Given the description of an element on the screen output the (x, y) to click on. 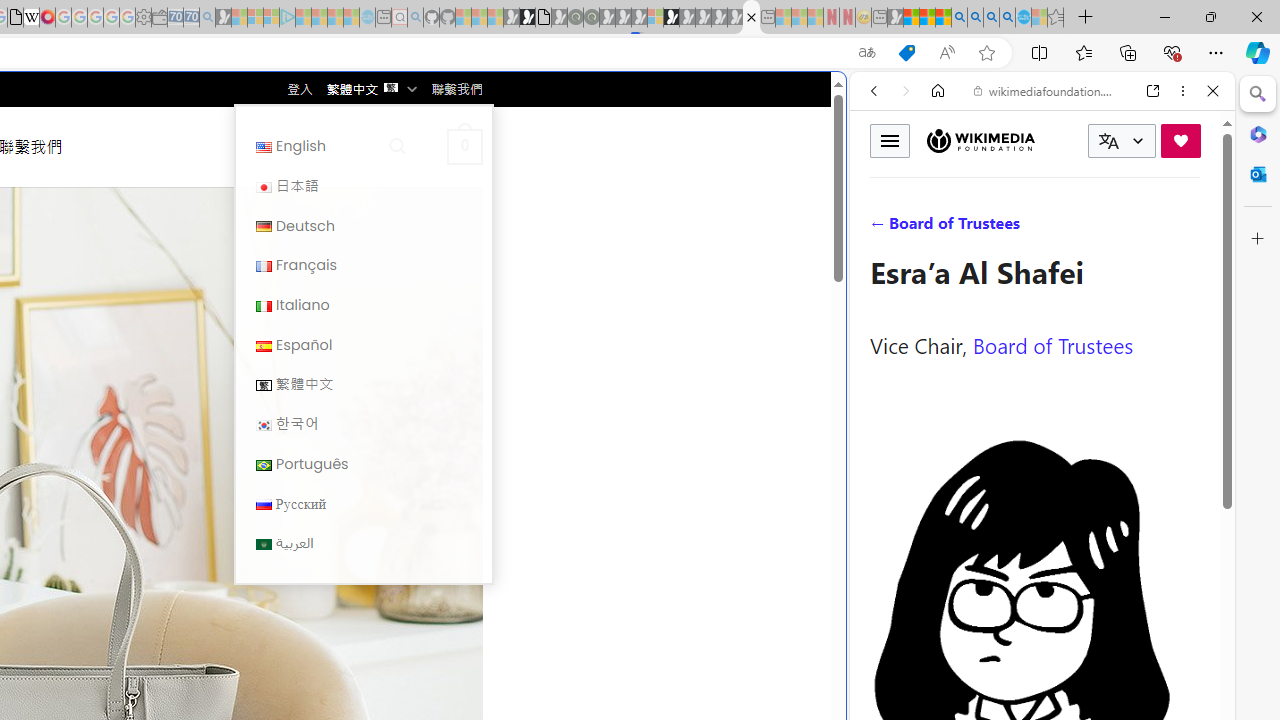
Tabs you've opened (276, 265)
Close split screen (844, 102)
 Deutsch (363, 225)
wikimediafoundation.org (1045, 90)
Show translate options (867, 53)
